Given the description of an element on the screen output the (x, y) to click on. 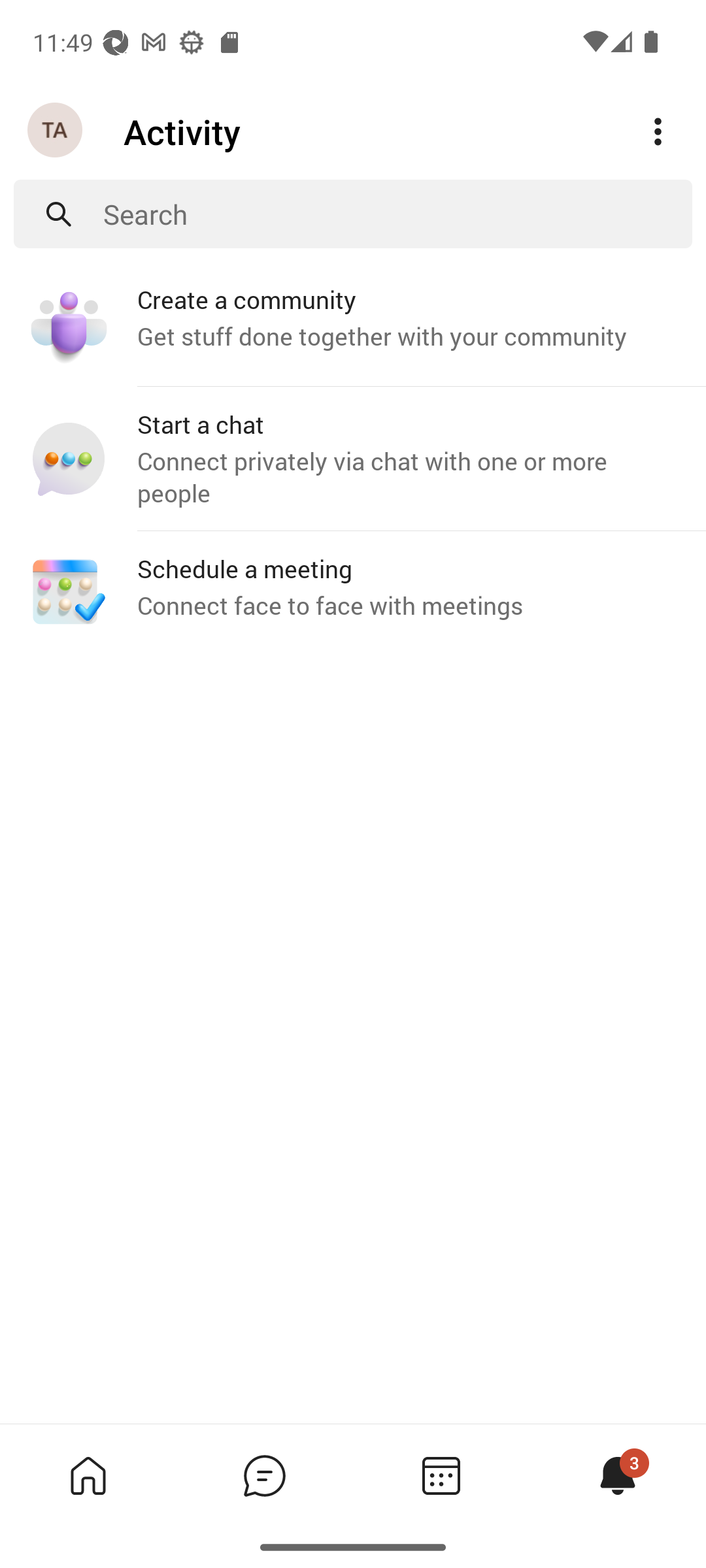
More options (657, 131)
Navigation (56, 130)
Search (397, 213)
Home tab,1 of 4, not selected (88, 1475)
Chat tab,2 of 4, not selected (264, 1475)
Calendar tab,3 of 4, not selected (441, 1475)
Activity tab, 4 of 4, 3 new 3 (617, 1475)
